Given the description of an element on the screen output the (x, y) to click on. 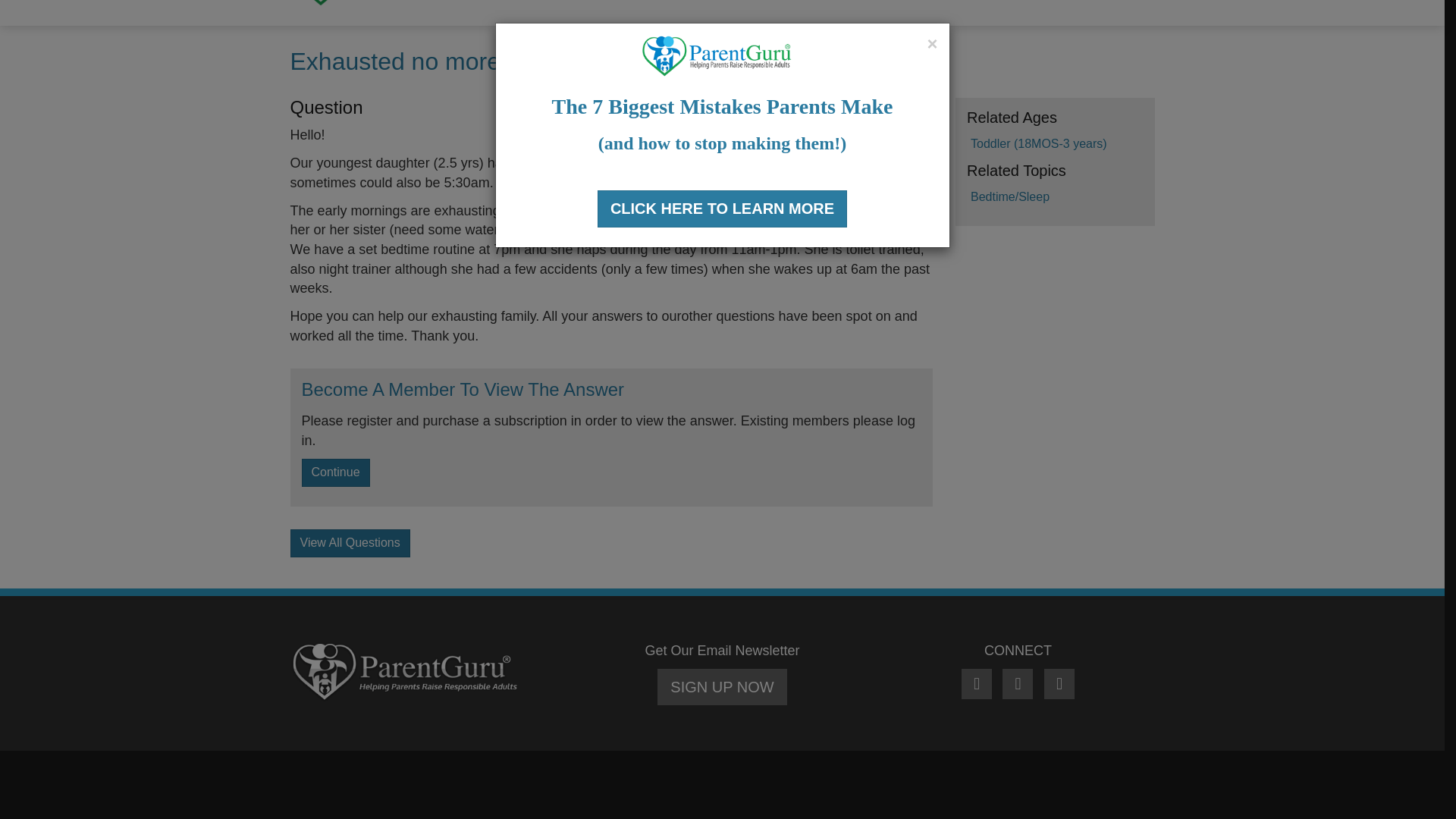
Continue (335, 472)
Join (686, 4)
SIGN UP NOW (722, 687)
Testimonials (1106, 4)
View All Questions (349, 543)
Ask a Question (765, 4)
Browse (628, 4)
Instagram (1059, 684)
Events (1026, 4)
Our Experts (949, 4)
CLICK HERE TO LEARN MORE (721, 116)
Facebook (978, 684)
Bookstore (862, 4)
Twitter (1018, 684)
